Given the description of an element on the screen output the (x, y) to click on. 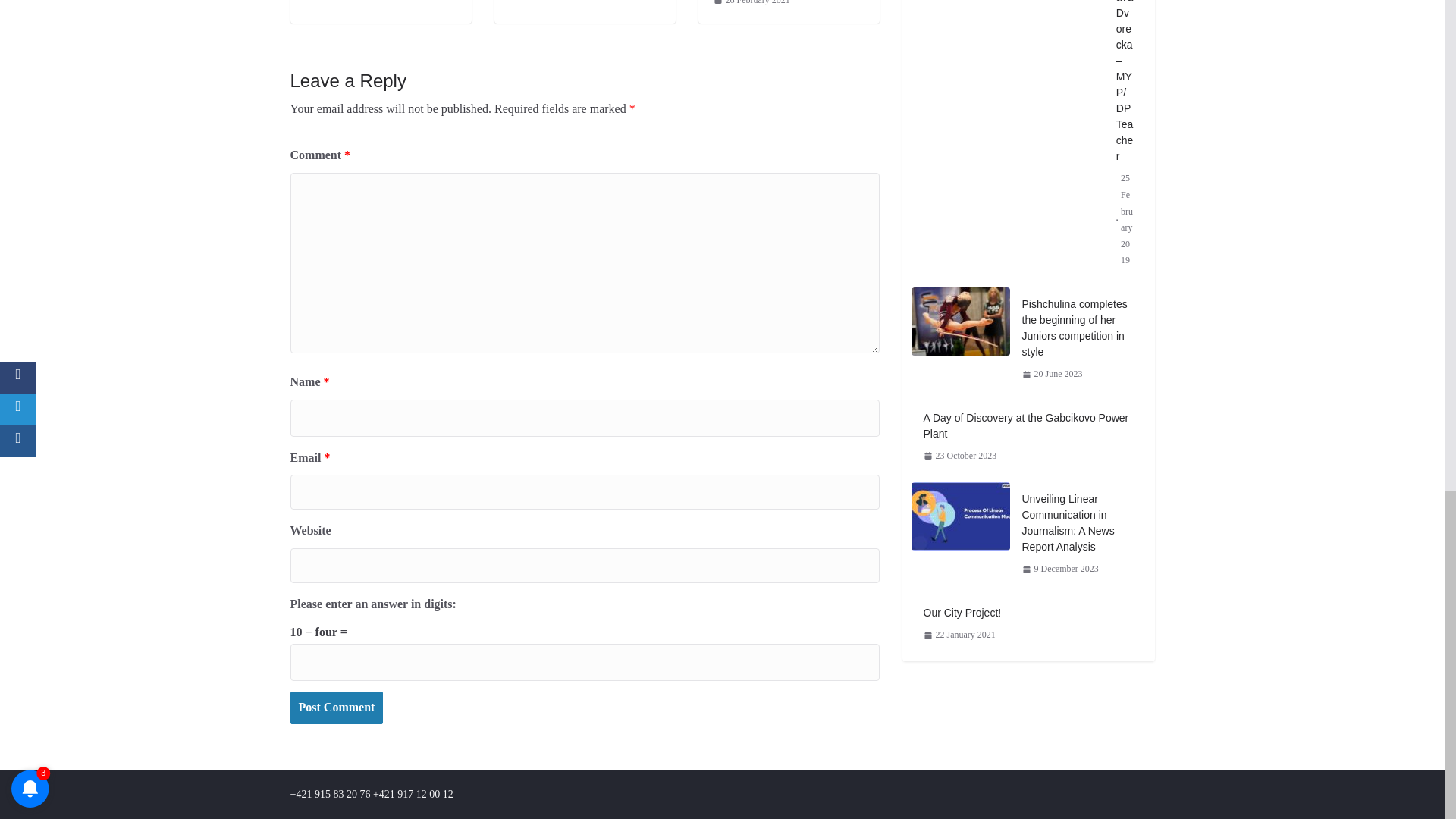
Post Comment (335, 707)
